Given the description of an element on the screen output the (x, y) to click on. 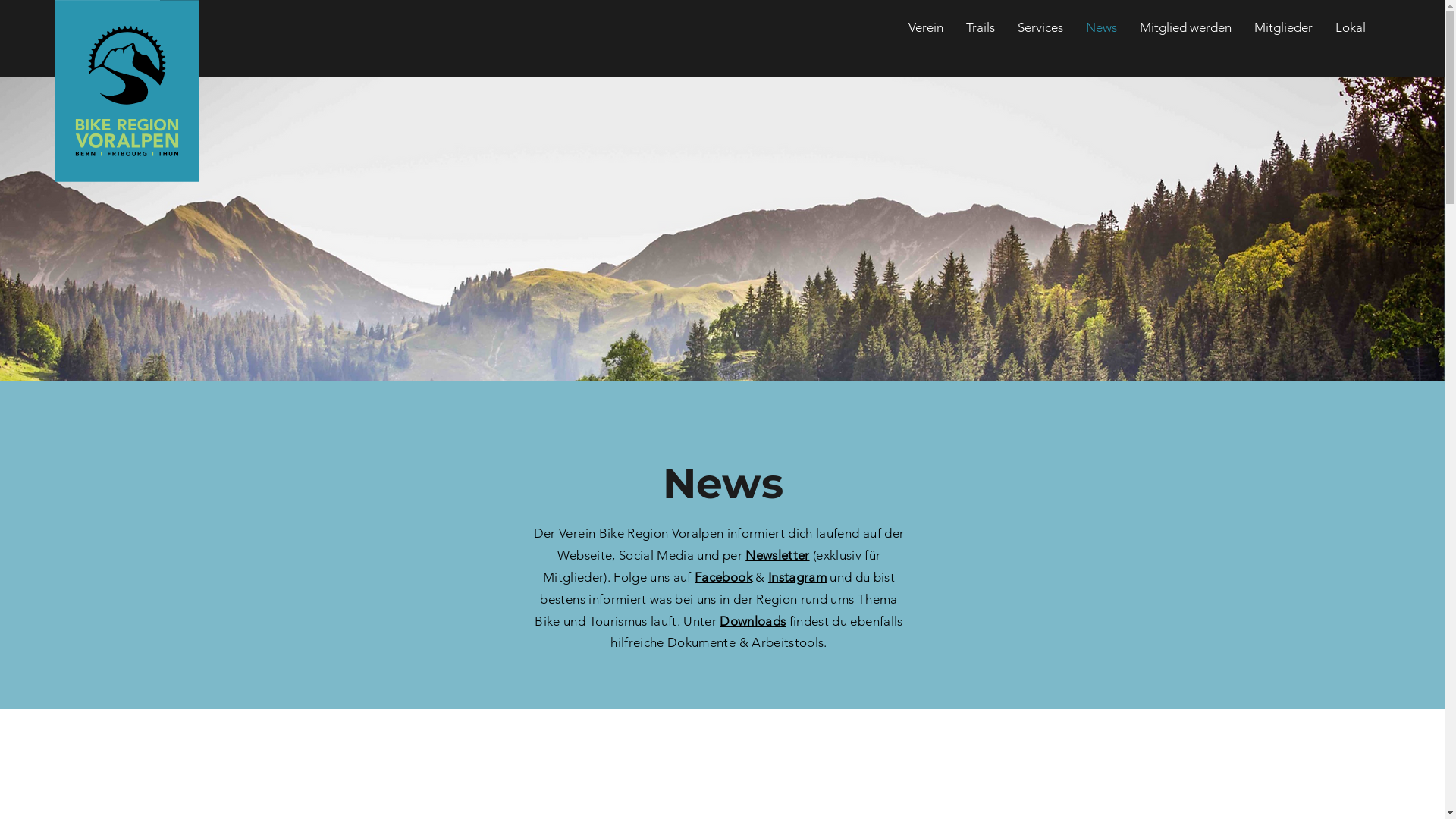
Verein Element type: text (925, 37)
Newsletter Element type: text (777, 554)
Downloads Element type: text (752, 620)
Facebook Element type: text (723, 576)
Trails Element type: text (980, 37)
Mitglieder Element type: text (1283, 37)
Instagram Element type: text (797, 576)
Mitglied werden Element type: text (1185, 37)
Services Element type: text (1040, 37)
News Element type: text (1101, 37)
